Given the description of an element on the screen output the (x, y) to click on. 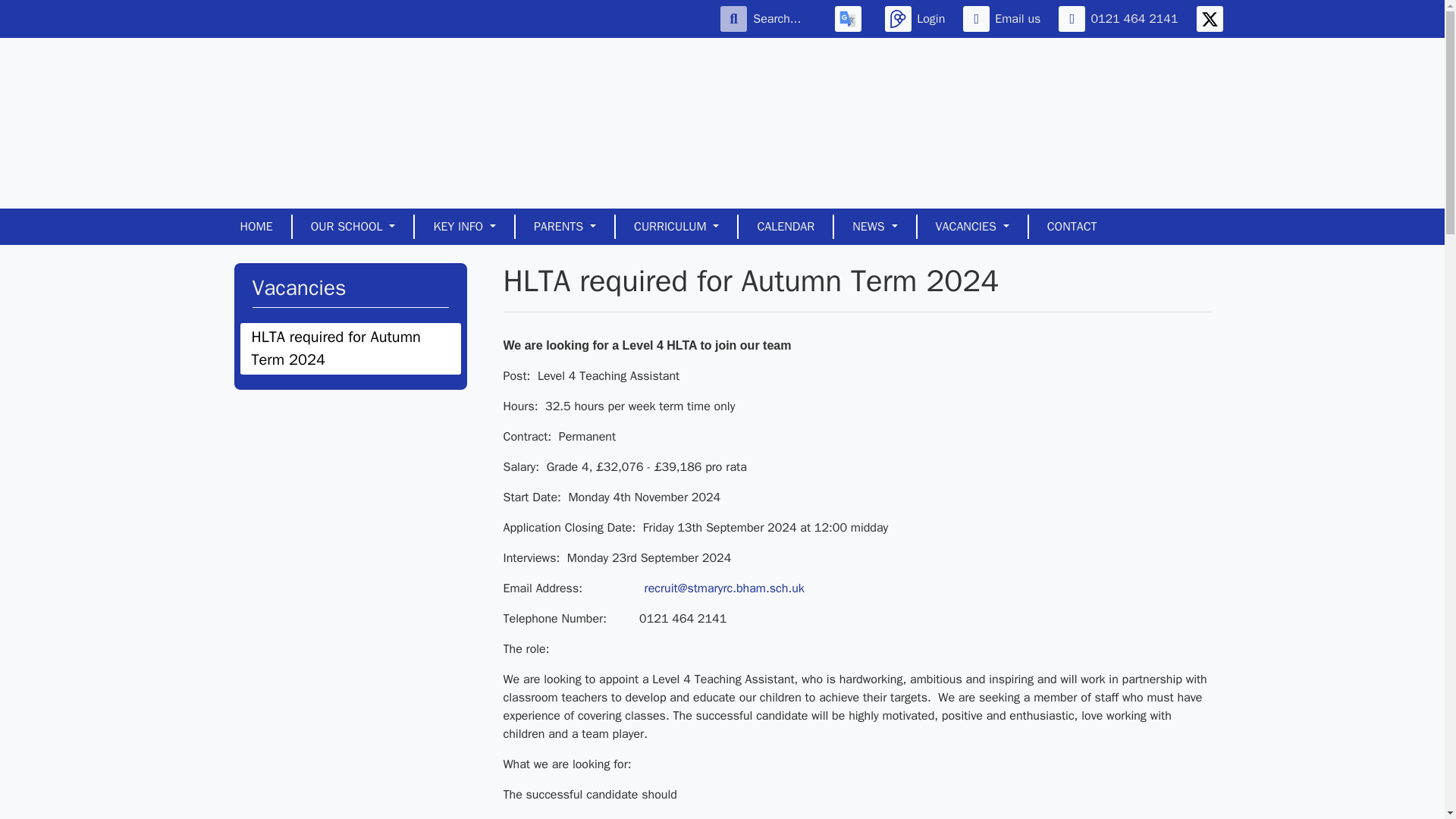
Email us (1004, 18)
Login (917, 18)
0121 464 2141 (1120, 18)
